Given the description of an element on the screen output the (x, y) to click on. 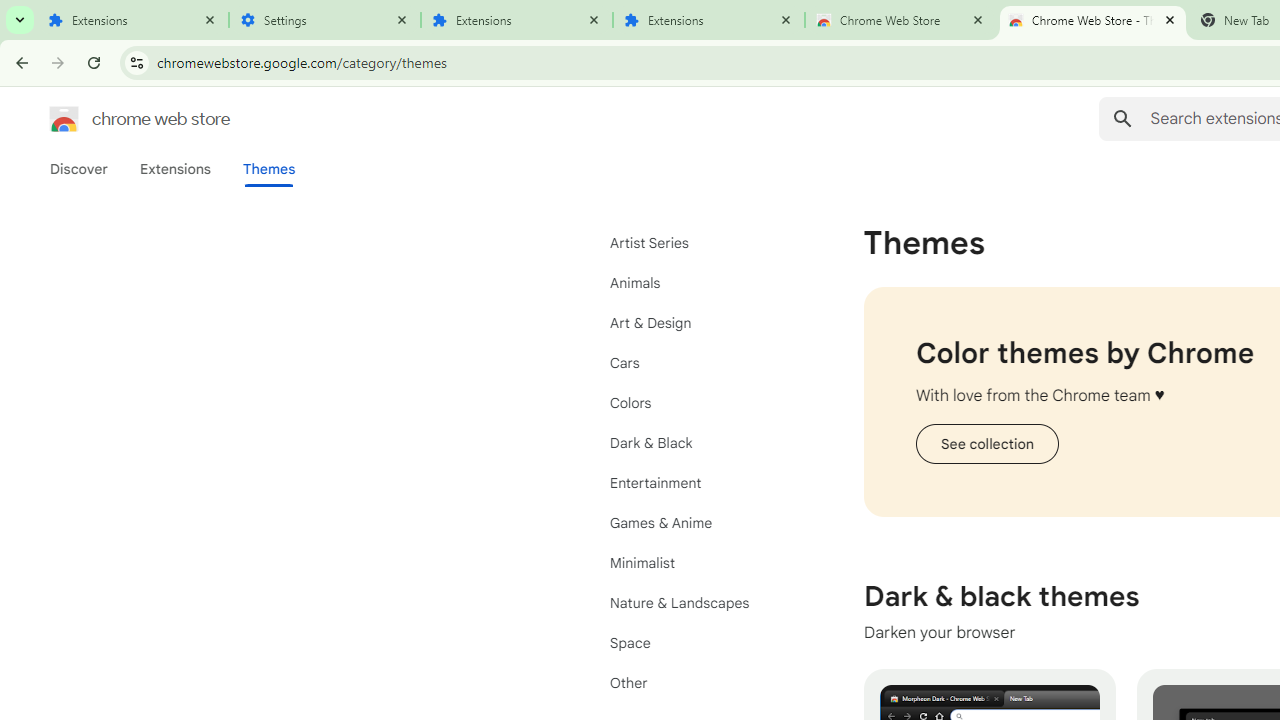
Cars (700, 362)
Themes (269, 169)
